Given the description of an element on the screen output the (x, y) to click on. 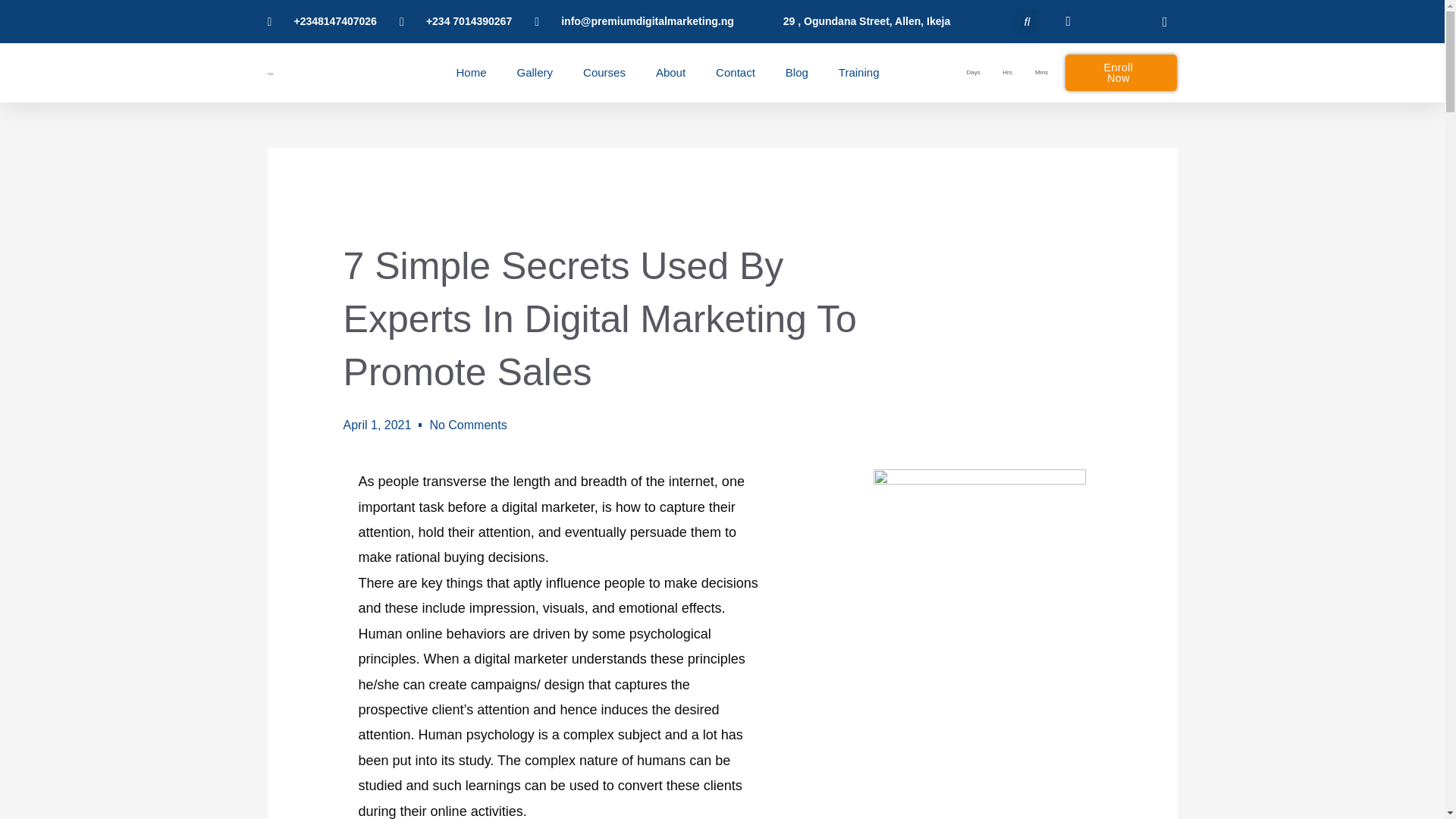
Blog (797, 72)
Enroll Now (1121, 72)
Home (471, 72)
Courses (604, 72)
April 1, 2021 (377, 425)
About (670, 72)
Contact (735, 72)
Training (858, 72)
No Comments (467, 425)
Gallery (534, 72)
